Given the description of an element on the screen output the (x, y) to click on. 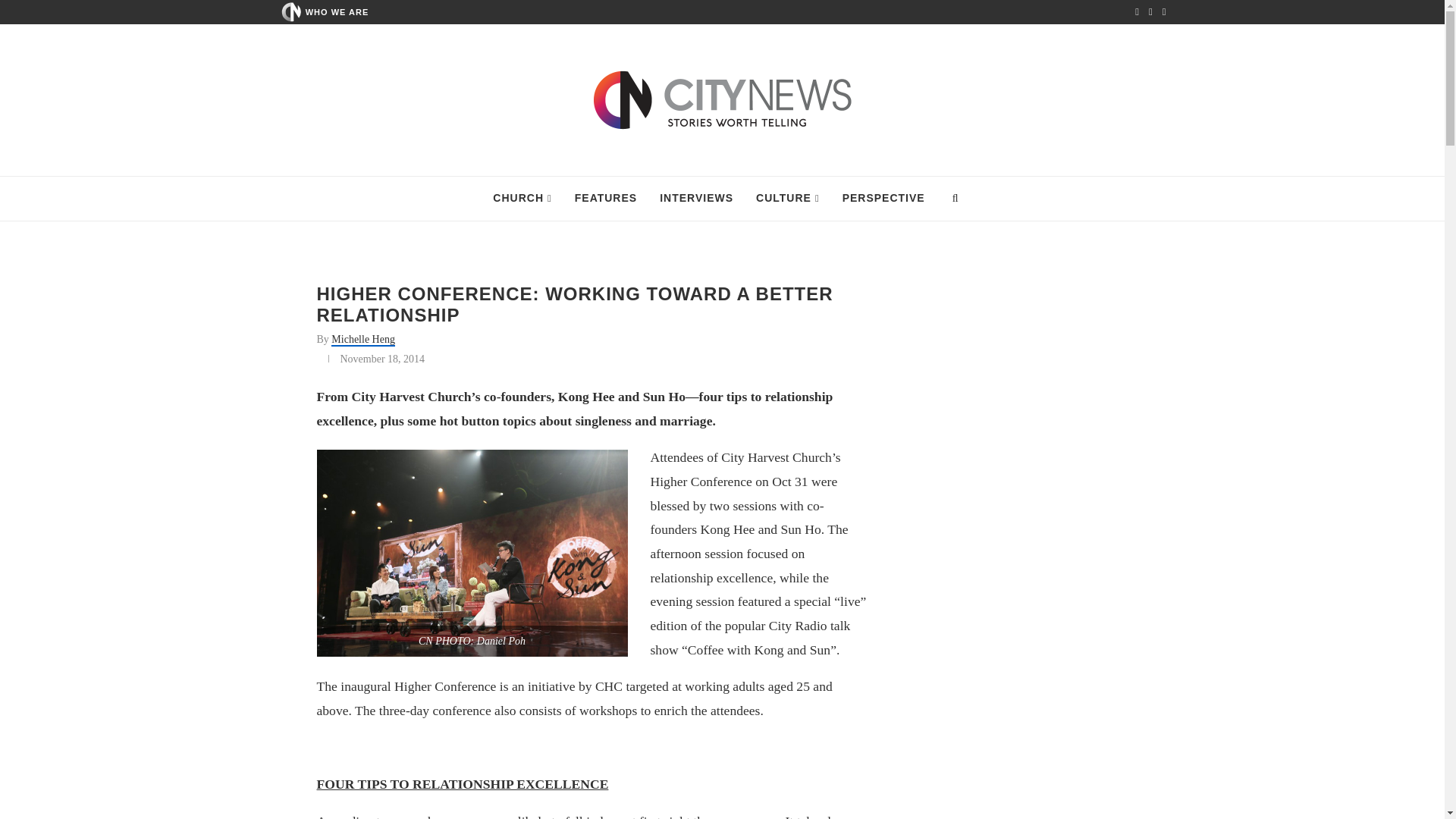
PERSPECTIVE (883, 198)
FEATURES (605, 198)
INTERVIEWS (695, 198)
WHO WE ARE (337, 11)
CHURCH (521, 198)
CULTURE (787, 198)
Higher Conference: Working Toward A Better Relationship (472, 552)
Michelle Heng (362, 339)
Posts by Michelle Heng (362, 339)
